Given the description of an element on the screen output the (x, y) to click on. 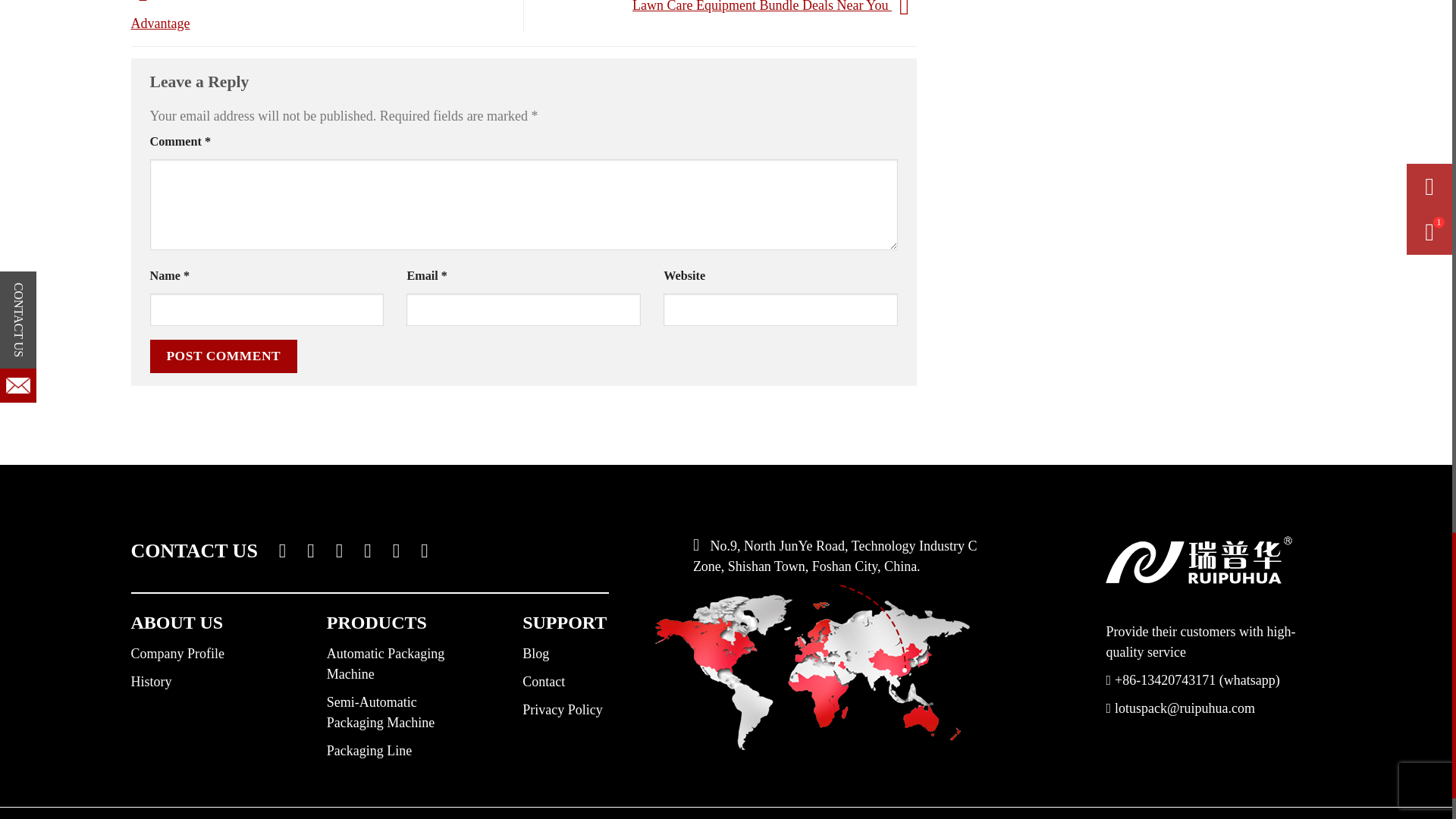
Company Profile (177, 653)
Privacy Policy (562, 709)
Packaging Line (369, 750)
Automatic Packaging Machine (385, 663)
Ruipuhua (1198, 559)
map (812, 667)
Blog (535, 653)
Semi-Automatic Packaging Machine (379, 712)
Post Comment (223, 356)
